Given the description of an element on the screen output the (x, y) to click on. 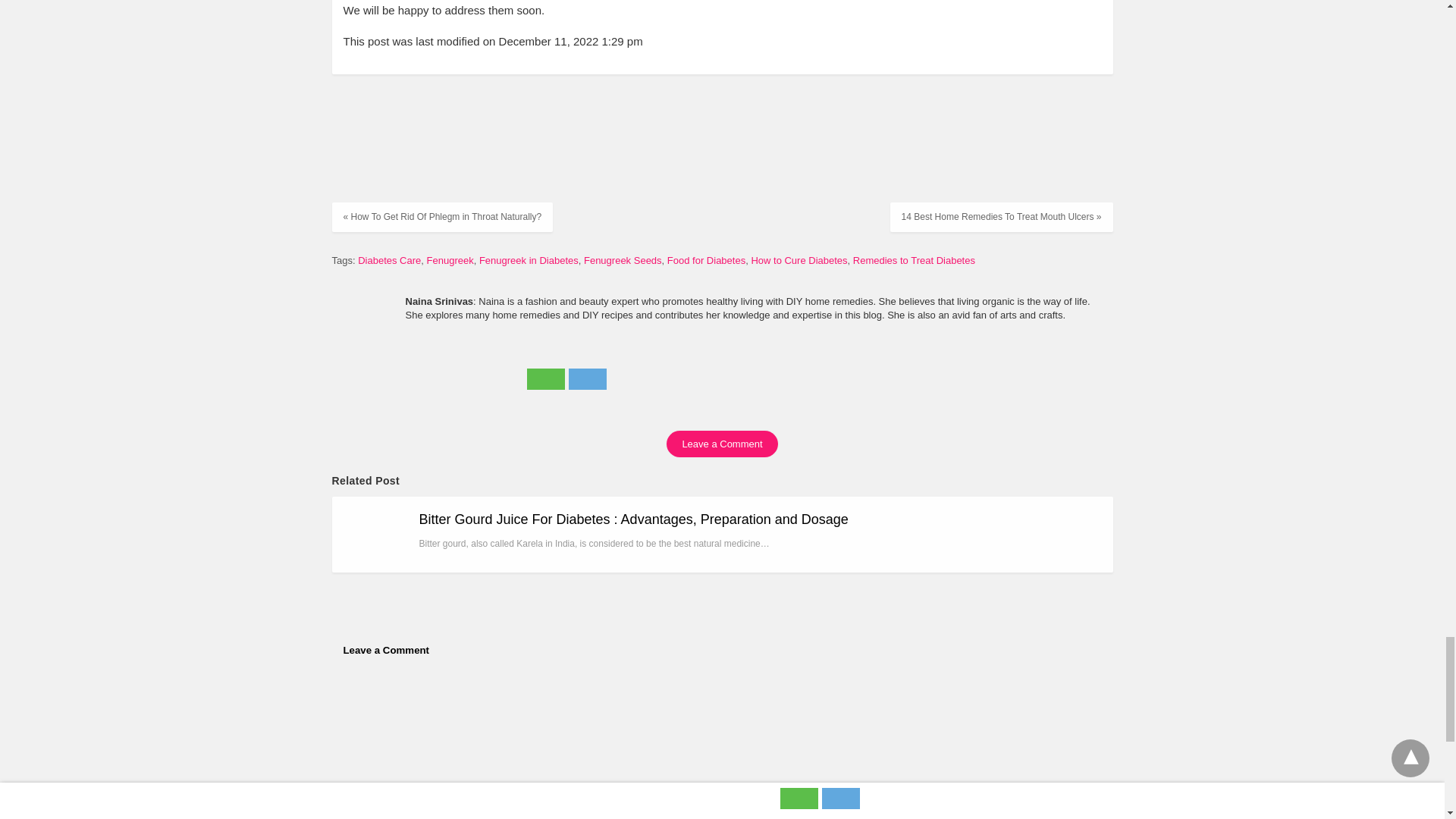
whatsapp share (547, 385)
Remedies to Treat Diabetes (914, 260)
Leave a Comment (721, 443)
Fenugreek Seeds (622, 260)
Fenugreek in Diabetes (528, 260)
Diabetes Care (389, 260)
How to Cure Diabetes (799, 260)
Food for Diabetes (705, 260)
